Given the description of an element on the screen output the (x, y) to click on. 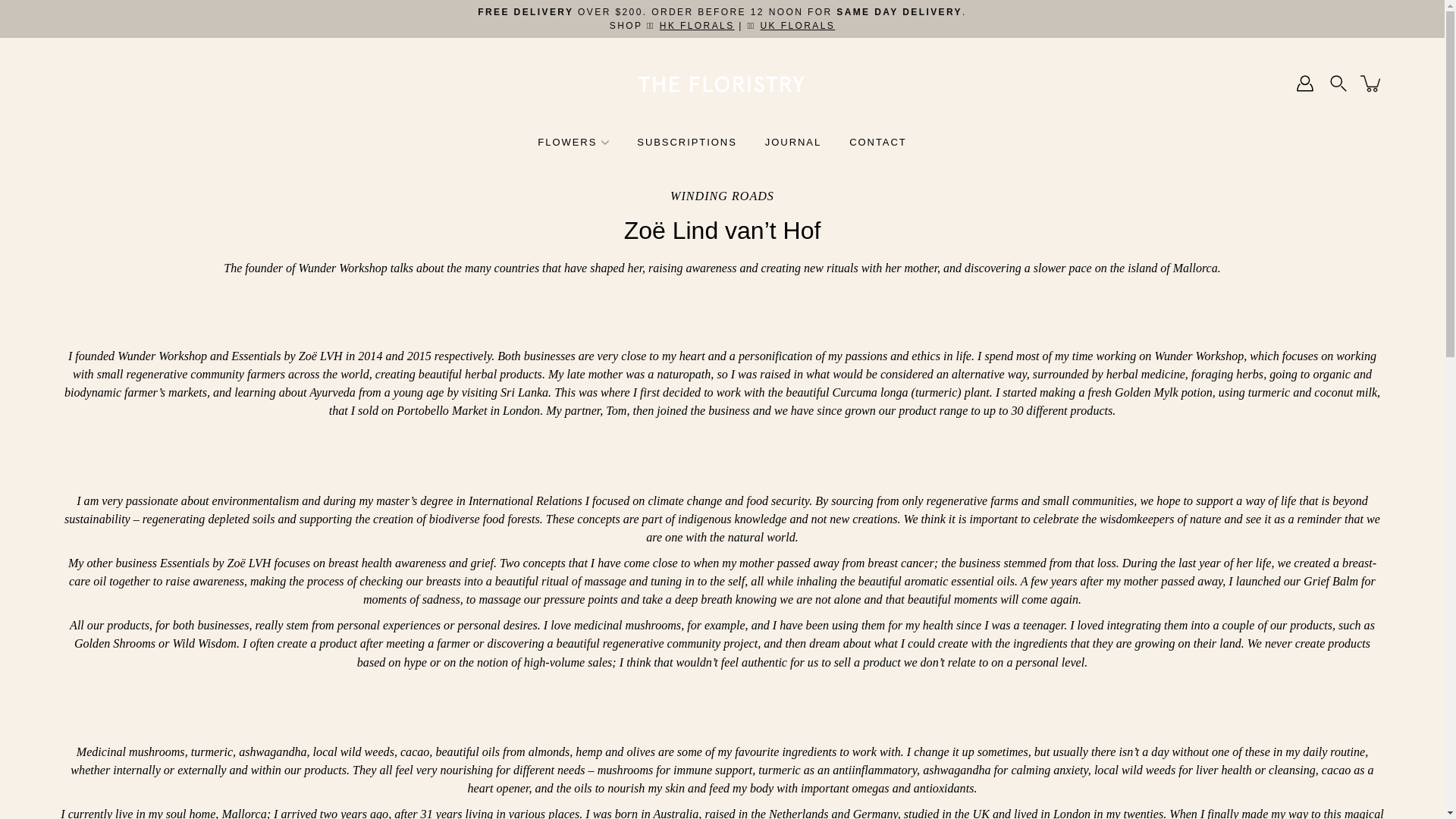
CONTACT (877, 141)
JOURNAL (793, 141)
FLOWERS (566, 141)
SUBSCRIPTIONS (686, 141)
UK FLORALS (797, 25)
HK FLORALS (697, 25)
